Given the description of an element on the screen output the (x, y) to click on. 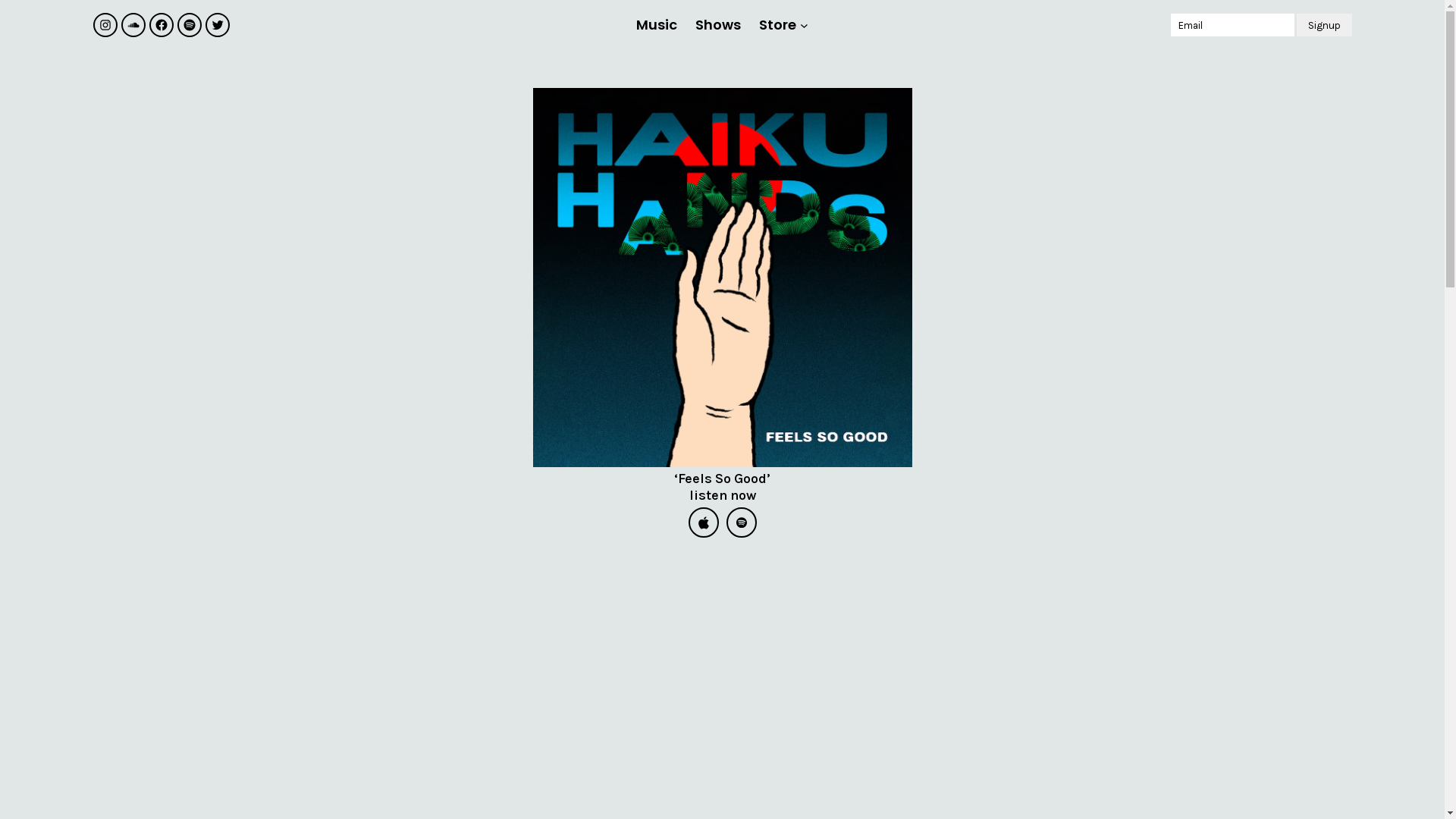
Music Element type: text (656, 24)
Spotify Element type: text (189, 24)
Soundcloud Element type: text (133, 24)
Twitter Element type: text (216, 24)
Signup Element type: text (1324, 24)
Facebook Element type: text (160, 24)
Store Element type: text (777, 24)
Instagram Element type: text (104, 24)
Shows Element type: text (717, 24)
